Given the description of an element on the screen output the (x, y) to click on. 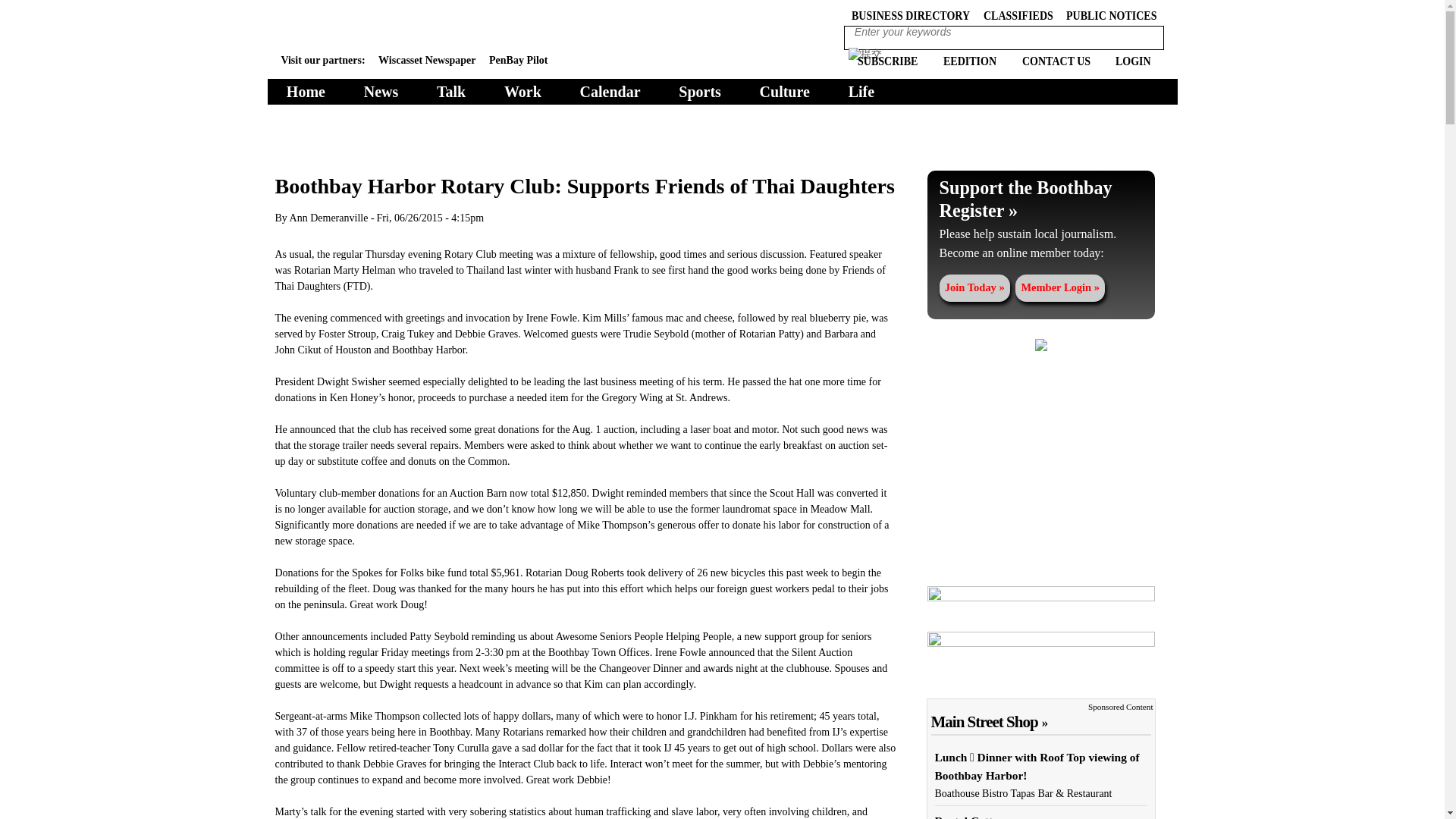
Create Account (974, 288)
BUSINESS DIRECTORY (910, 13)
Status (1040, 219)
PUBLIC NOTICES (1110, 13)
Wiscasset Newspaper (427, 60)
CLASSIFIEDS (1018, 13)
Talk (451, 91)
SUBSCRIBE (887, 59)
Sign in (1059, 288)
